Given the description of an element on the screen output the (x, y) to click on. 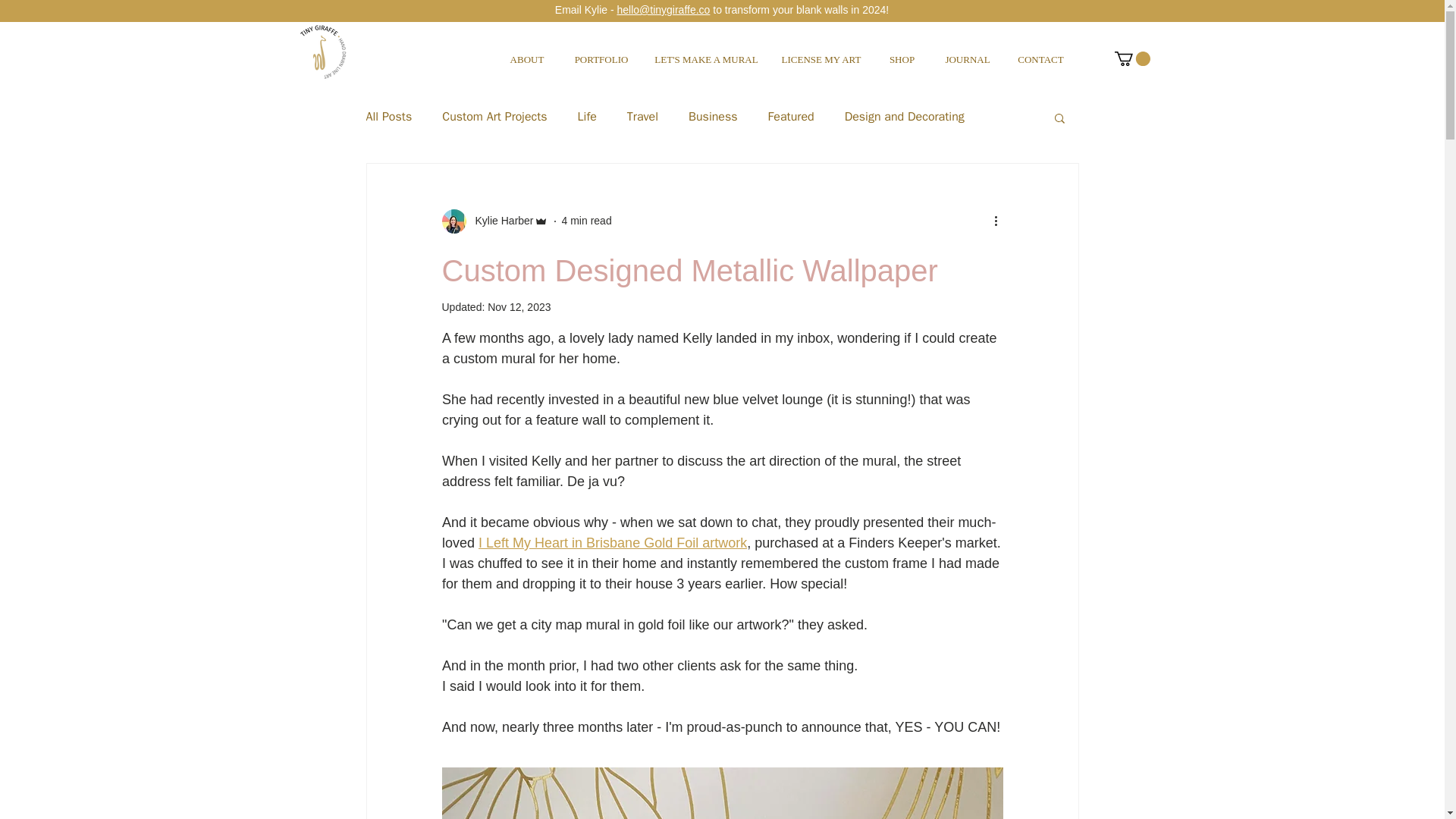
SHOP (902, 52)
4 min read (586, 220)
All Posts (388, 116)
Custom Art Projects (494, 116)
Nov 12, 2023 (518, 306)
Kylie Harber (498, 220)
Kylie Harber (494, 221)
JOURNAL (967, 52)
LICENSE MY ART (820, 52)
Business (713, 116)
PORTFOLIO (601, 52)
I Left My Heart in Brisbane Gold Foil artwork (612, 542)
Design and Decorating (903, 116)
Life (587, 116)
Featured (790, 116)
